Given the description of an element on the screen output the (x, y) to click on. 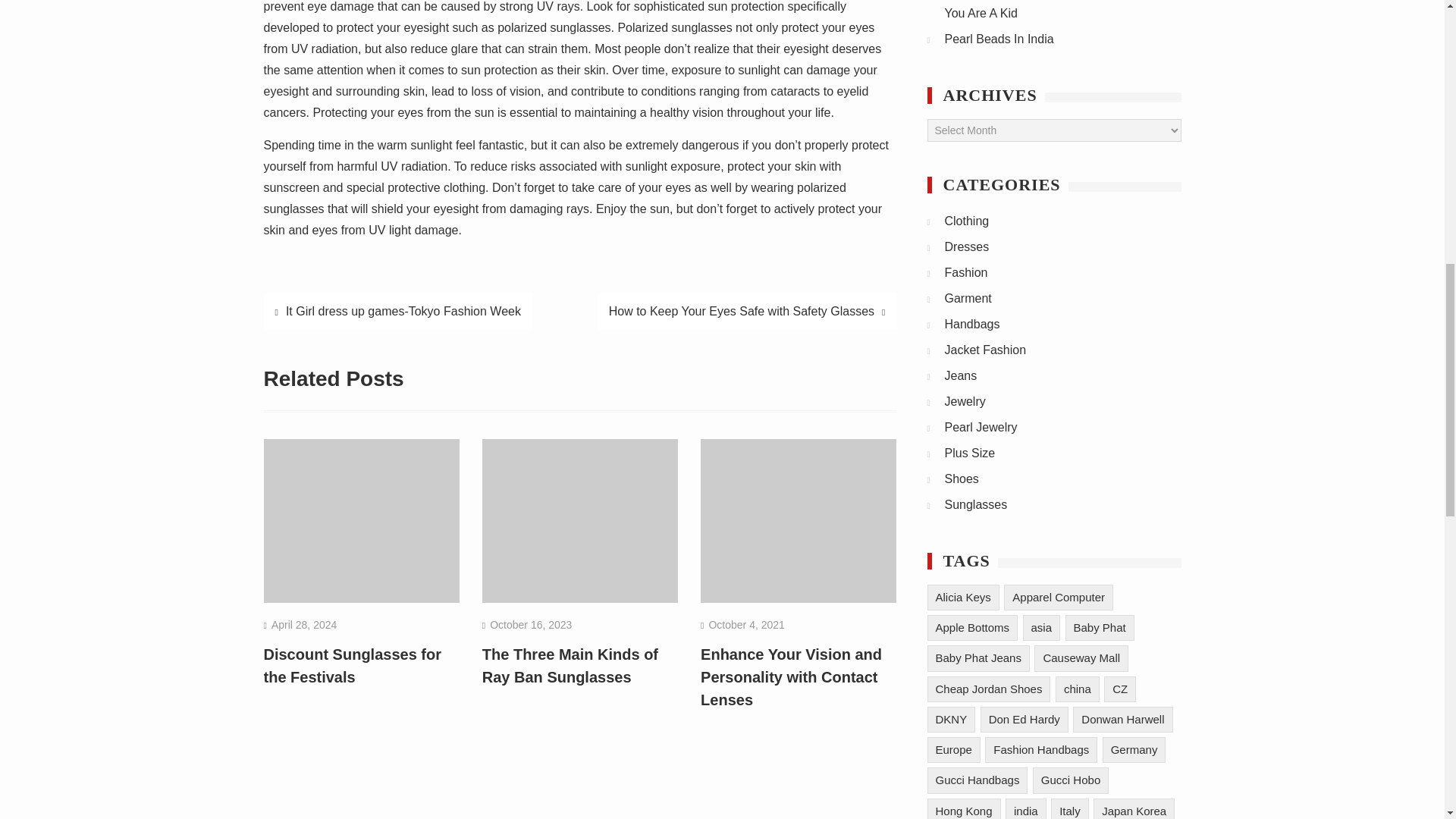
The Three Main Kinds of Ray Ban Sunglasses (569, 665)
Enhance Your Vision and Personality with Contact Lenses (791, 677)
Discount Sunglasses for the Festivals (352, 665)
It Girl dress up games-Tokyo Fashion Week (397, 311)
How to Keep Your Eyes Safe with Safety Glasses (746, 311)
